Given the description of an element on the screen output the (x, y) to click on. 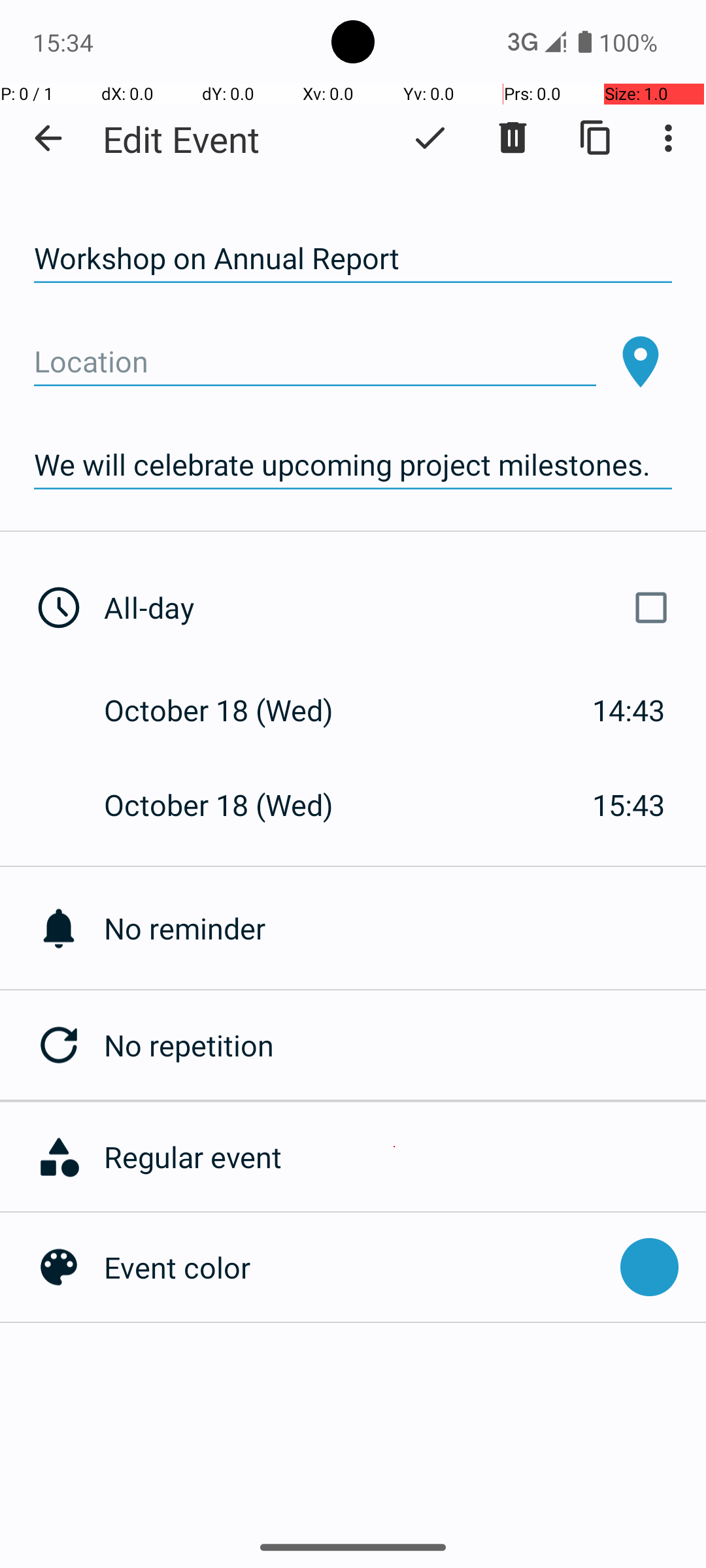
Workshop on Annual Report Element type: android.widget.EditText (352, 258)
We will celebrate upcoming project milestones. Element type: android.widget.EditText (352, 465)
October 18 (Wed) Element type: android.widget.TextView (232, 709)
14:43 Element type: android.widget.TextView (628, 709)
15:43 Element type: android.widget.TextView (628, 804)
